Given the description of an element on the screen output the (x, y) to click on. 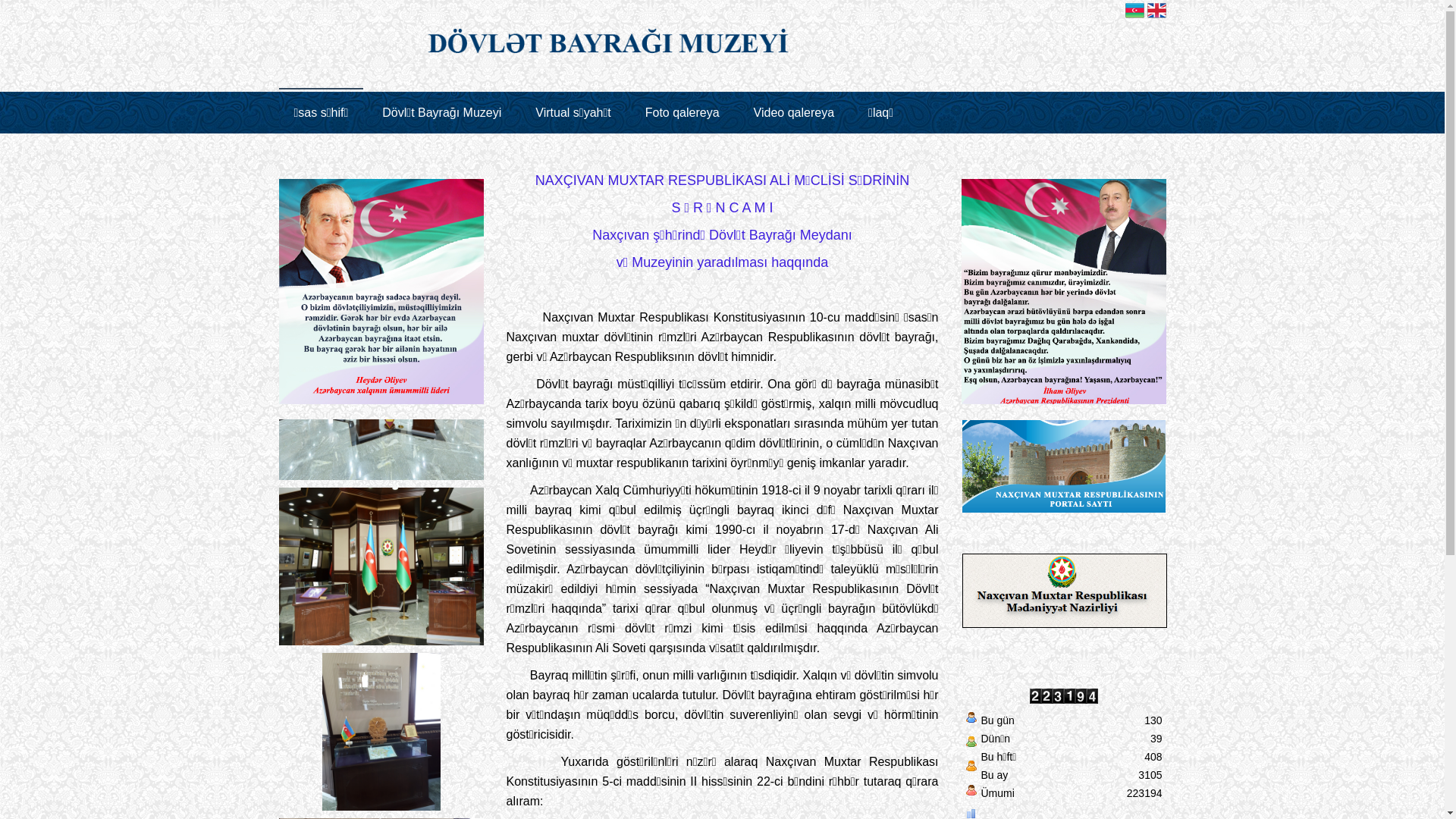
2023-11-20 Element type: hover (970, 768)
2023-11-01 Element type: hover (970, 793)
<small></small> Element type: hover (381, 661)
2023-11-25 Element type: hover (970, 720)
Foto qalereya Element type: text (682, 112)
<small></small> Element type: hover (381, 496)
Video qalereya Element type: text (793, 112)
2023-11-24 Element type: hover (970, 744)
